Given the description of an element on the screen output the (x, y) to click on. 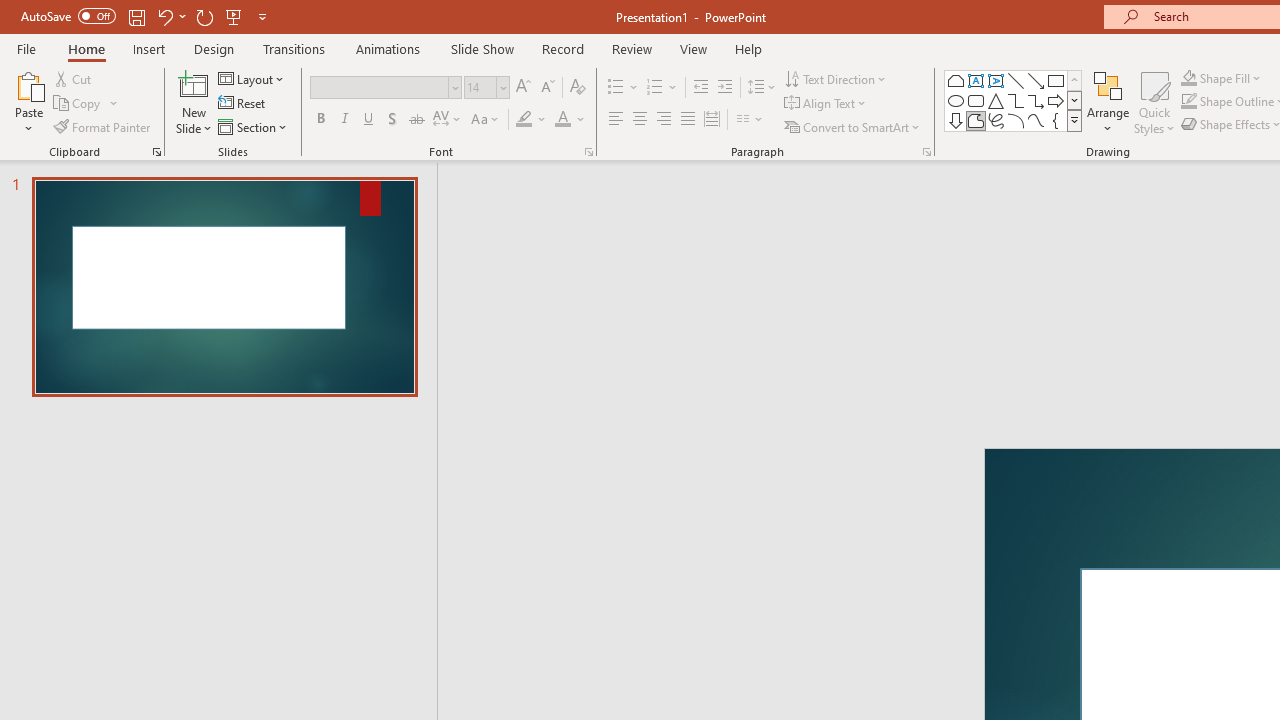
Shape Outline Blue, Accent 1 (1188, 101)
